Given the description of an element on the screen output the (x, y) to click on. 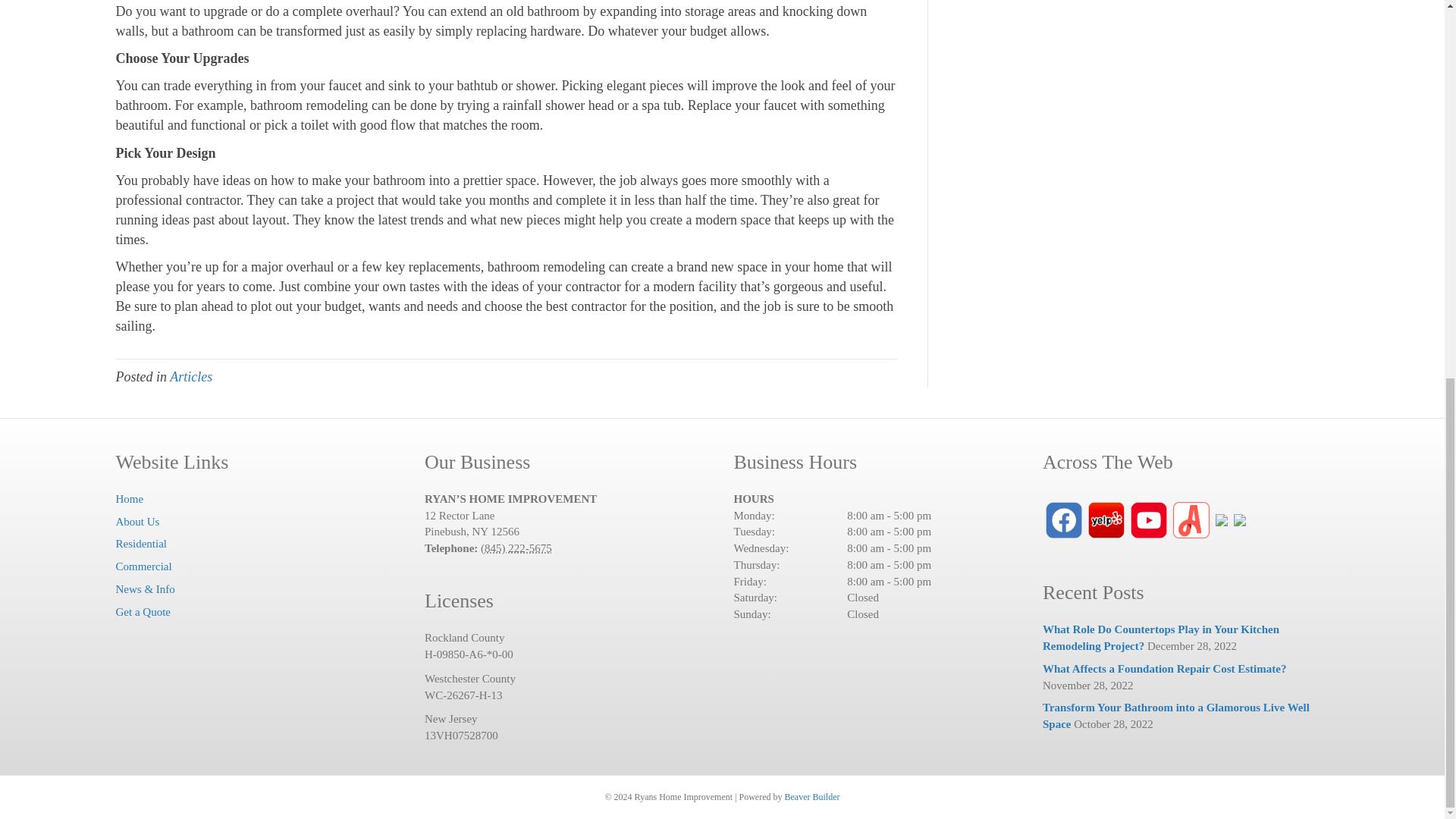
Home (128, 499)
Residential (141, 543)
Articles (191, 376)
Commercial (143, 566)
WordPress Page Builder Plugin (812, 796)
Get a Quote (142, 612)
About Us (136, 521)
